Given the description of an element on the screen output the (x, y) to click on. 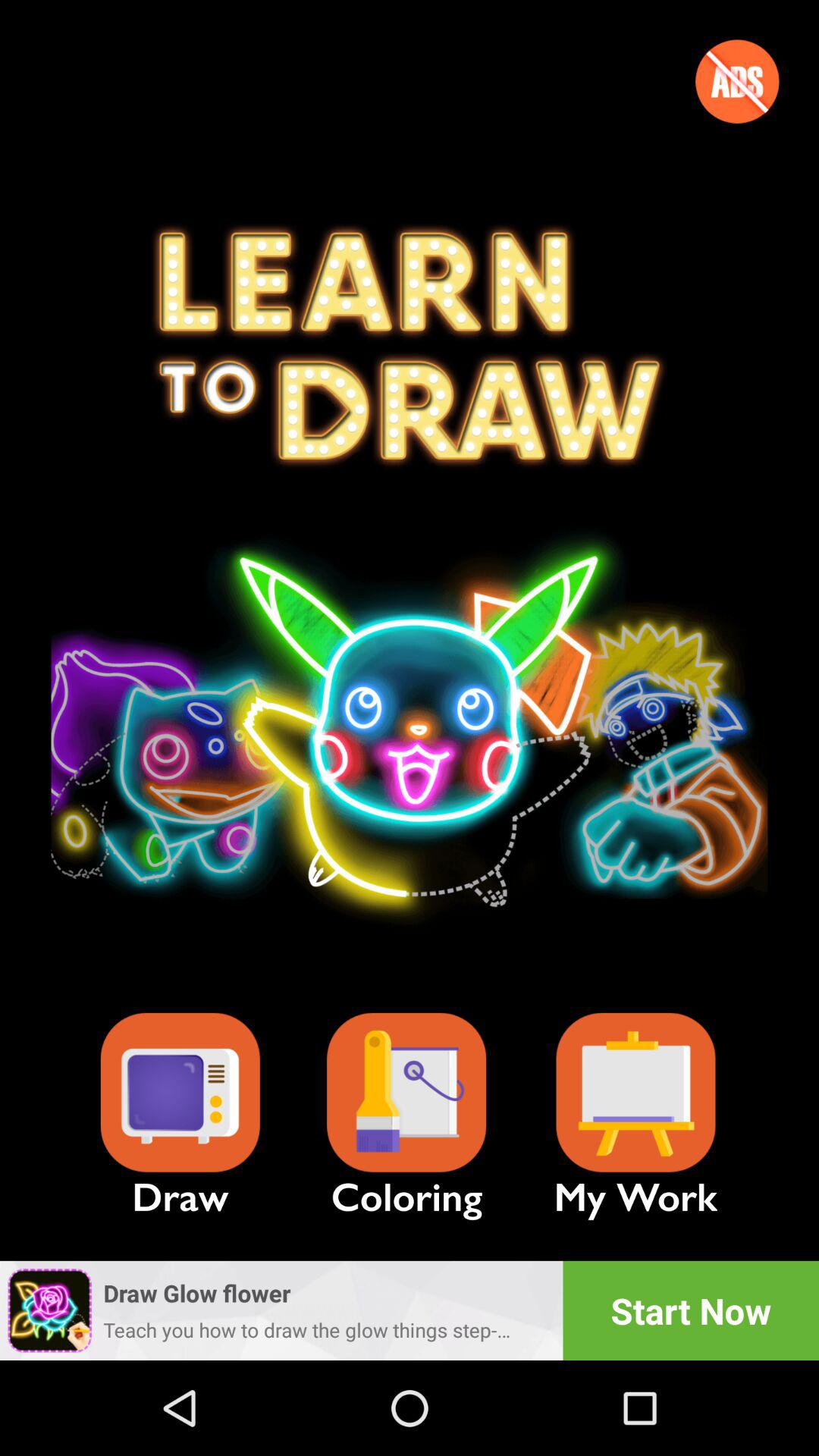
draw (179, 1092)
